Given the description of an element on the screen output the (x, y) to click on. 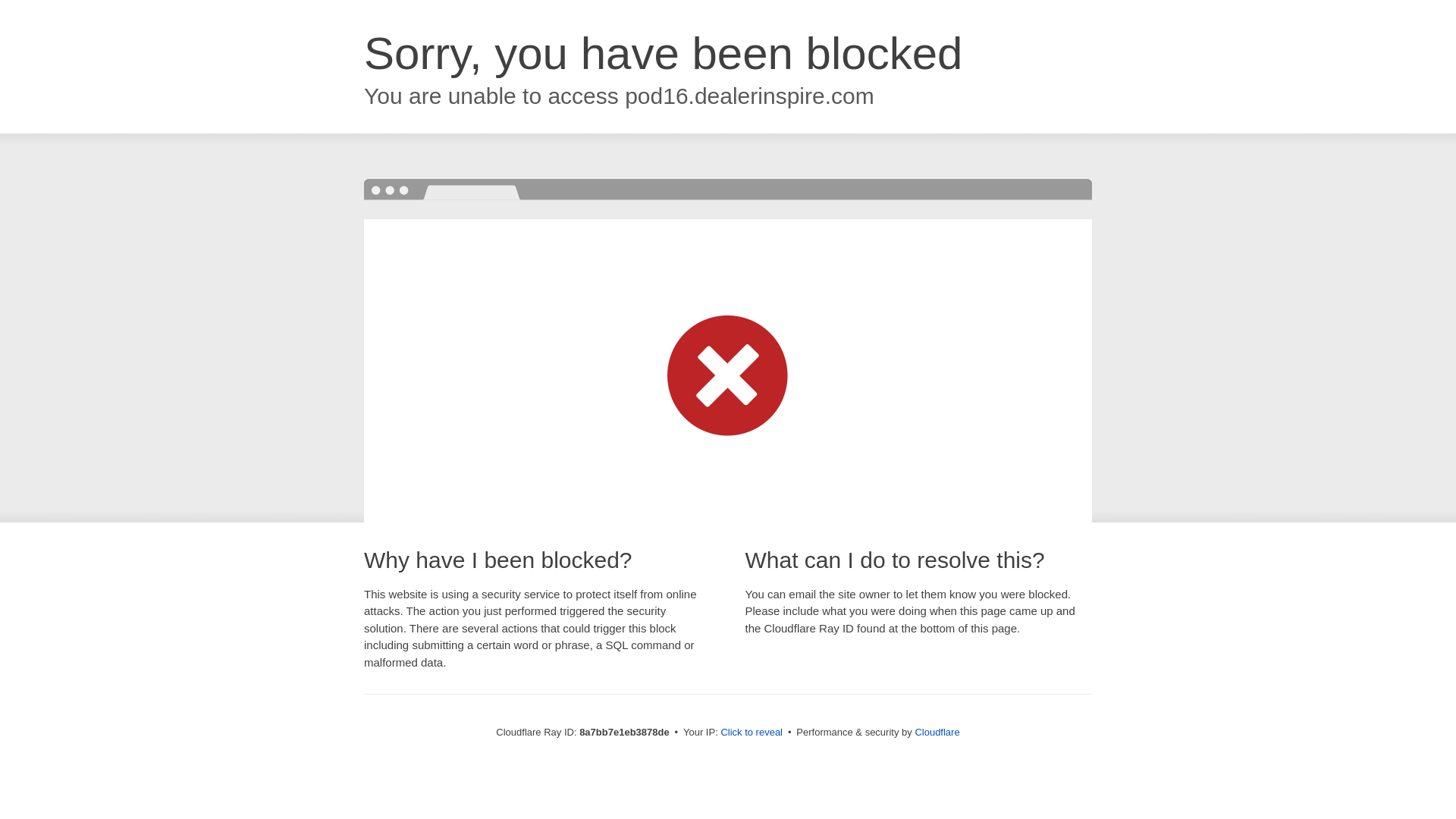
Cloudflare (936, 731)
Click to reveal (751, 732)
